Given the description of an element on the screen output the (x, y) to click on. 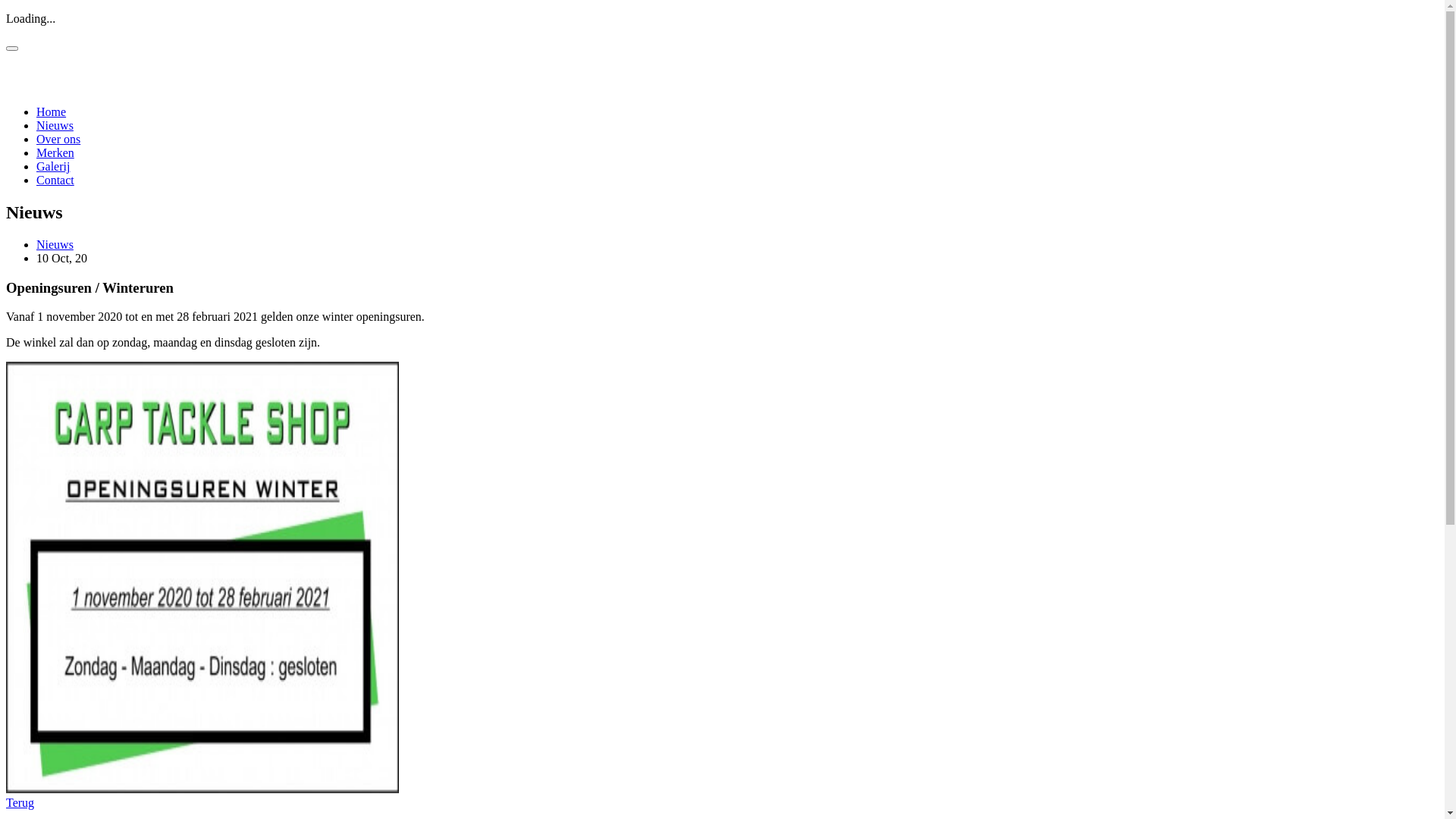
Terug Element type: text (20, 802)
Over ons Element type: text (58, 138)
Galerij Element type: text (52, 166)
Merken Element type: text (55, 152)
Nieuws Element type: text (54, 244)
Nieuws Element type: text (54, 125)
Home Element type: text (50, 111)
Contact Element type: text (55, 179)
